Given the description of an element on the screen output the (x, y) to click on. 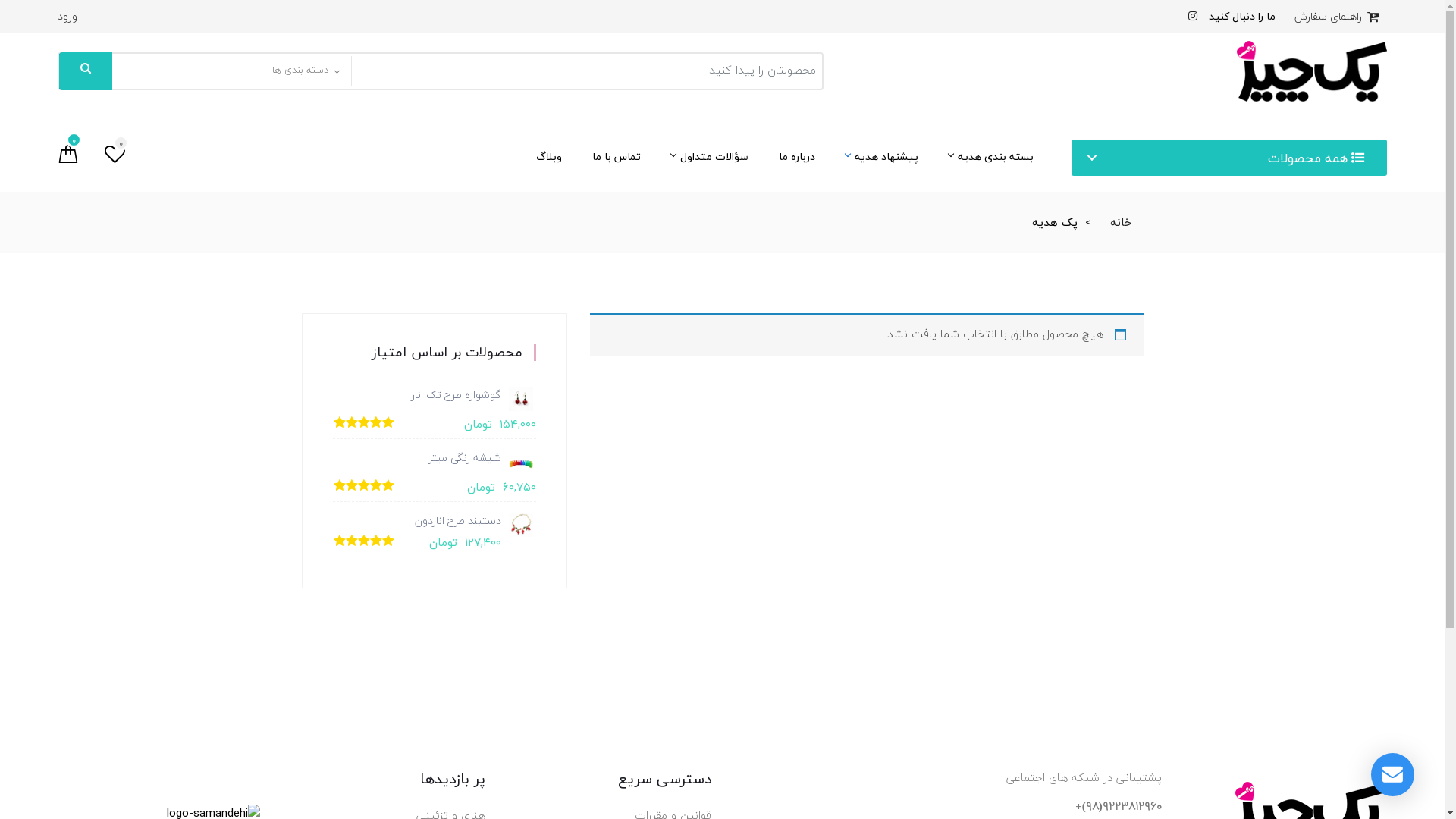
0 Element type: text (67, 156)
0 Element type: text (114, 156)
